Given the description of an element on the screen output the (x, y) to click on. 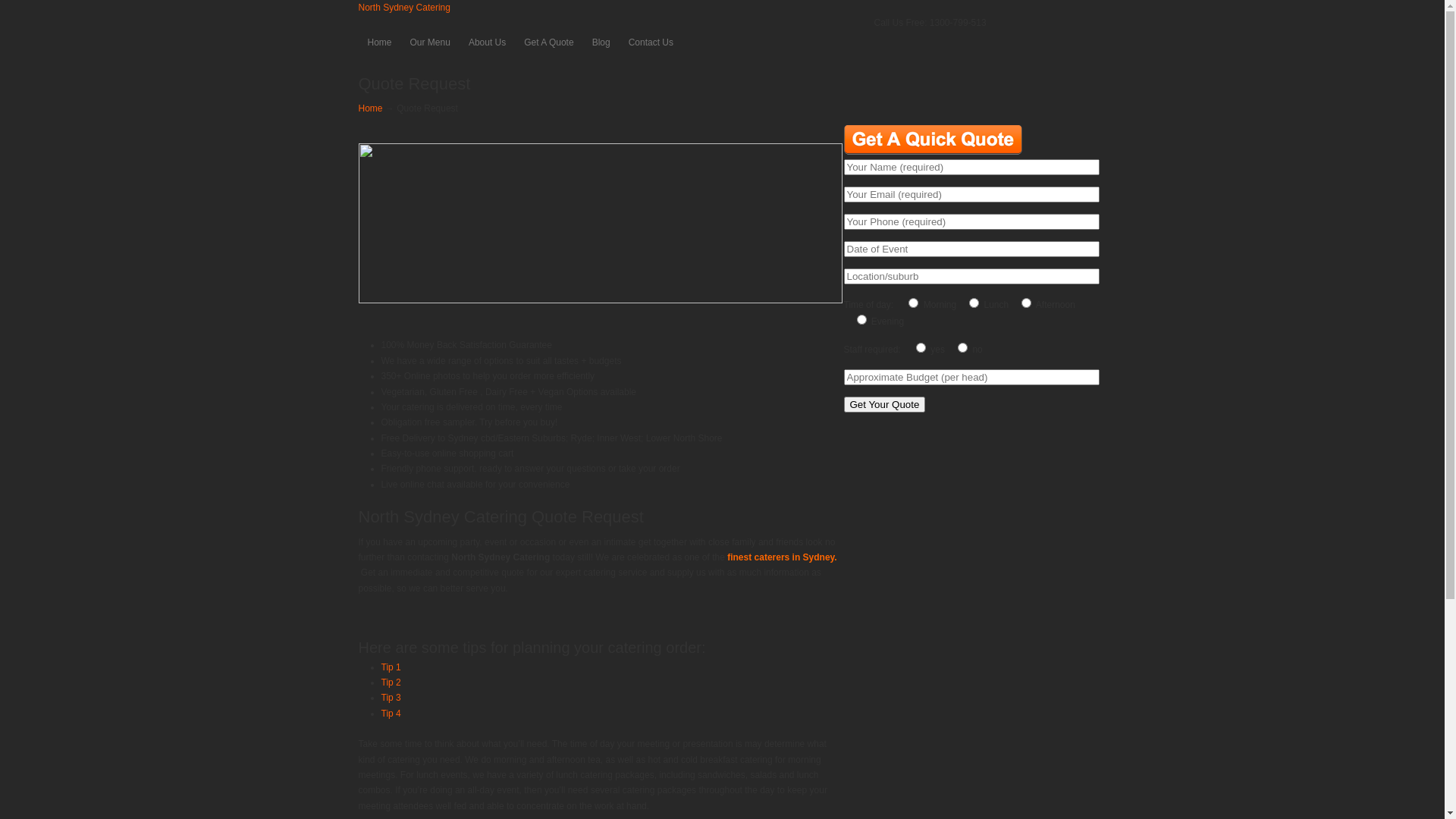
10-reasons-foroffice-catering03 Element type: hover (599, 223)
Home Element type: text (369, 108)
About Us Element type: text (486, 42)
Tip 3 Element type: text (390, 697)
Contact Us Element type: text (650, 42)
Tip 4 Element type: text (390, 713)
Tip 2 Element type: text (390, 682)
North Sydney Catering Element type: text (403, 7)
Get A Quote Element type: text (548, 42)
Get Your Quote Element type: text (884, 404)
Tip 1 Element type: text (390, 667)
get-a-quick-quote Element type: hover (932, 139)
Home Element type: text (378, 42)
Blog Element type: text (601, 42)
Our Menu Element type: text (430, 42)
